Given the description of an element on the screen output the (x, y) to click on. 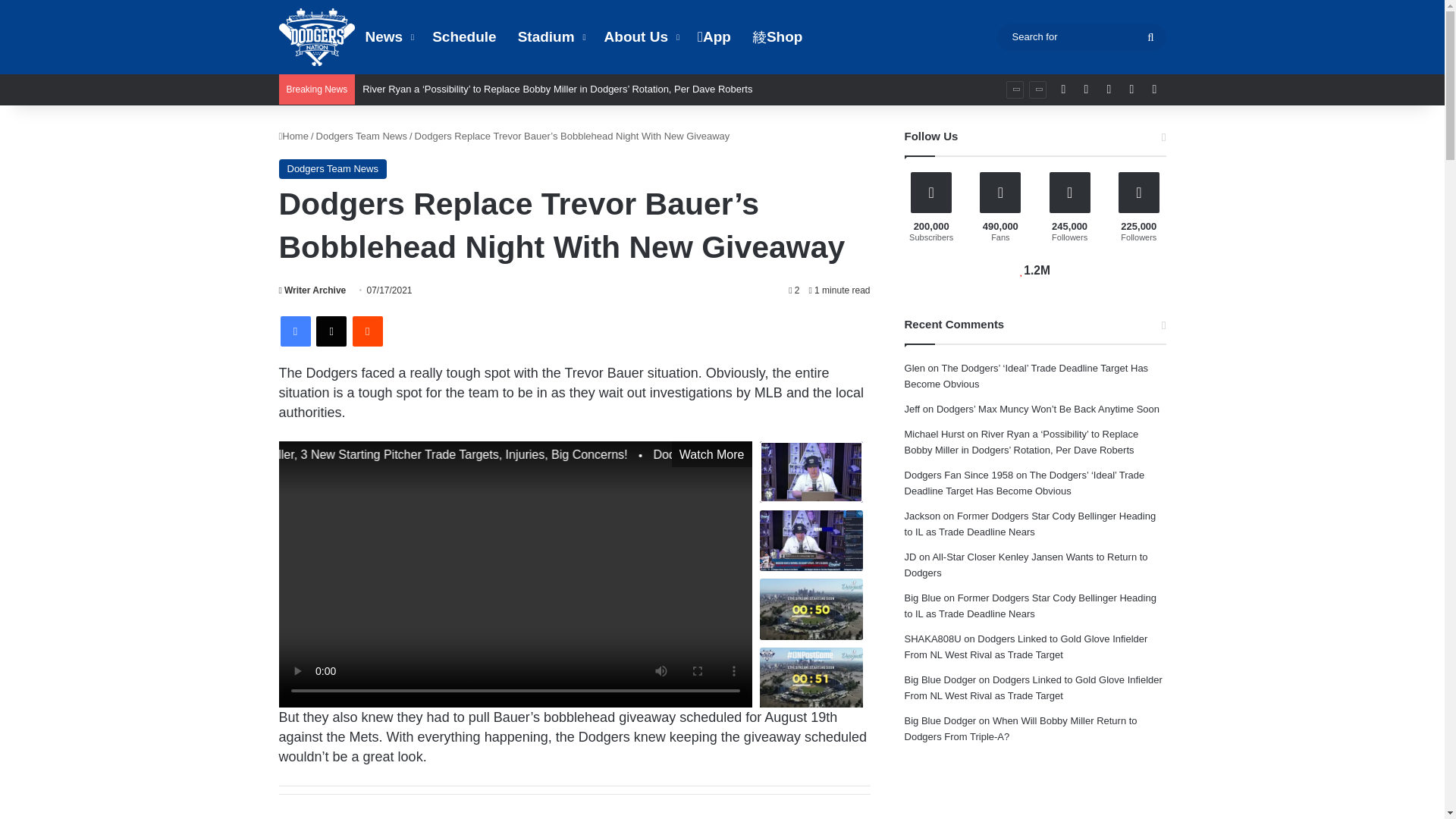
Schedule (464, 37)
News (388, 37)
Facebook (296, 331)
Reddit (367, 331)
Writer Archive (312, 290)
Reddit (367, 331)
X (330, 331)
Home (293, 135)
Dodgers Team News (333, 168)
Dodgers Nation (317, 37)
Facebook (296, 331)
Search for (1080, 36)
X (330, 331)
Shop (777, 37)
About Us (640, 37)
